Given the description of an element on the screen output the (x, y) to click on. 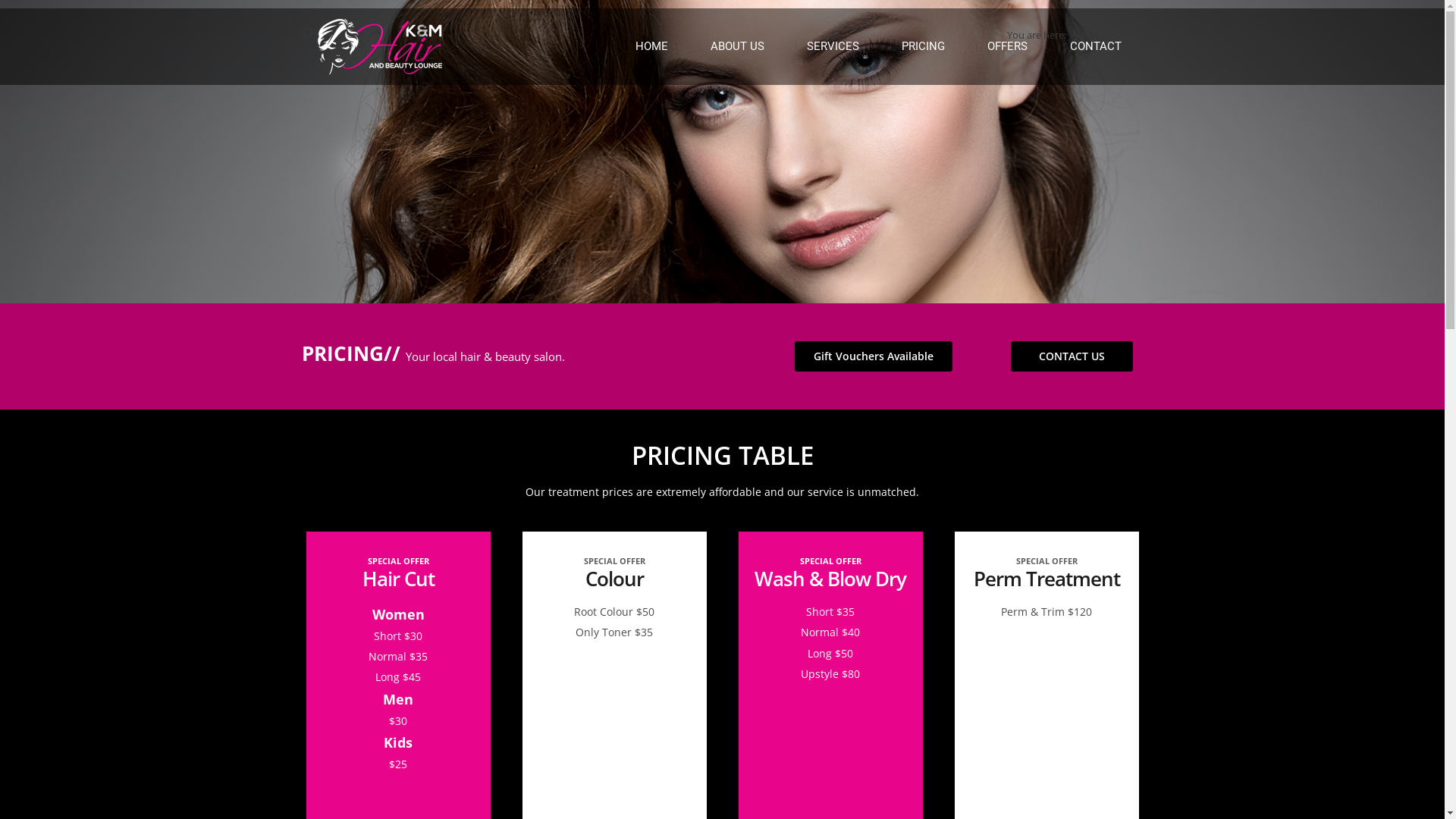
PRICING Element type: text (922, 46)
OFFERS Element type: text (1007, 46)
ABOUT US Element type: text (736, 46)
SERVICES Element type: text (832, 46)
HOME Element type: text (651, 46)
CONTACT Element type: text (1094, 46)
CONTACT US Element type: text (1071, 356)
K&M Hair and Beauty Lounge Element type: hover (379, 46)
Home Element type: text (1083, 34)
Gift Vouchers Available Element type: text (873, 356)
